Given the description of an element on the screen output the (x, y) to click on. 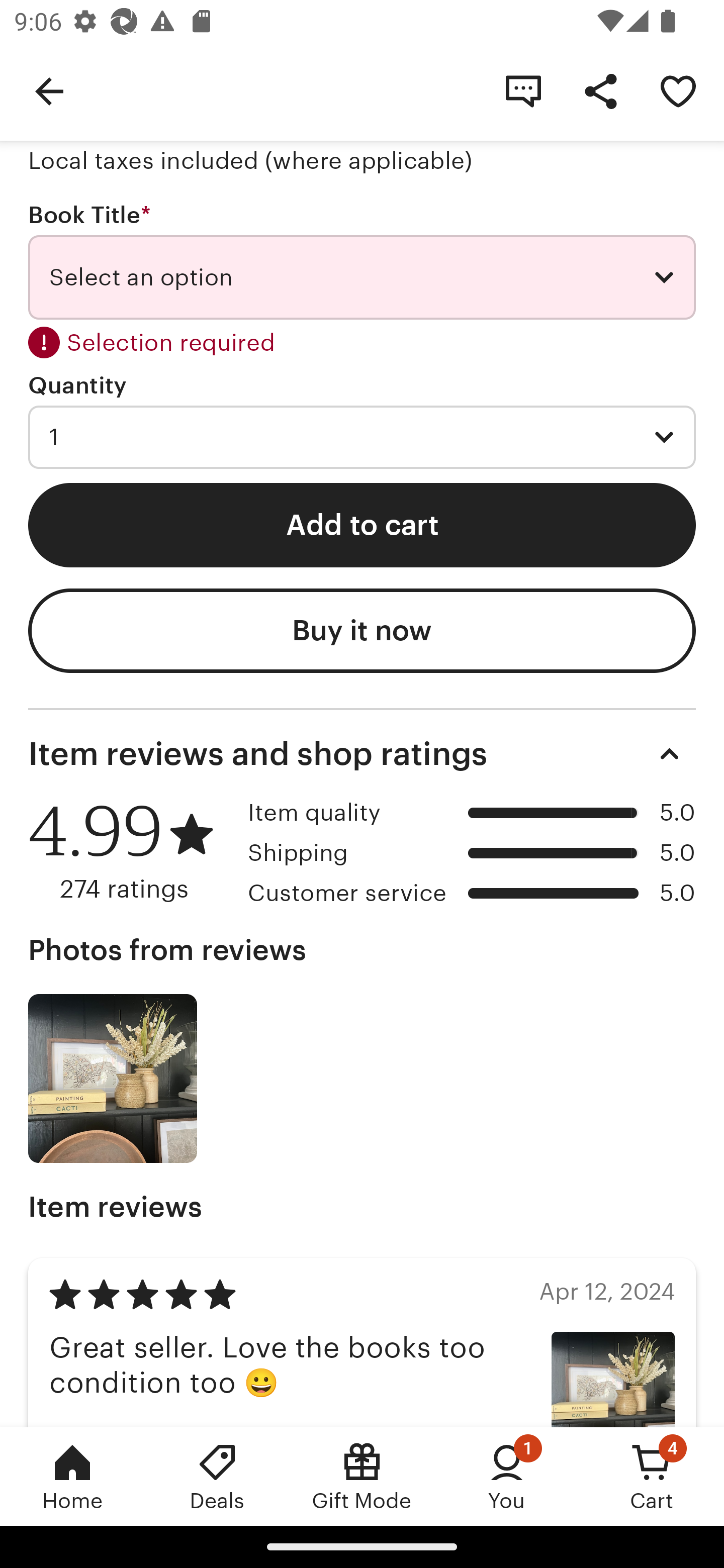
Navigate up (49, 90)
Contact shop (523, 90)
Share (600, 90)
Select an option (361, 277)
Quantity (77, 385)
1 (361, 437)
Add to cart (361, 524)
Buy it now (361, 630)
Item reviews and shop ratings (362, 753)
4.99 274 ratings (130, 851)
Photo from review (112, 1078)
Deals (216, 1475)
Gift Mode (361, 1475)
You, 1 new notification You (506, 1475)
Cart, 4 new notifications Cart (651, 1475)
